Given the description of an element on the screen output the (x, y) to click on. 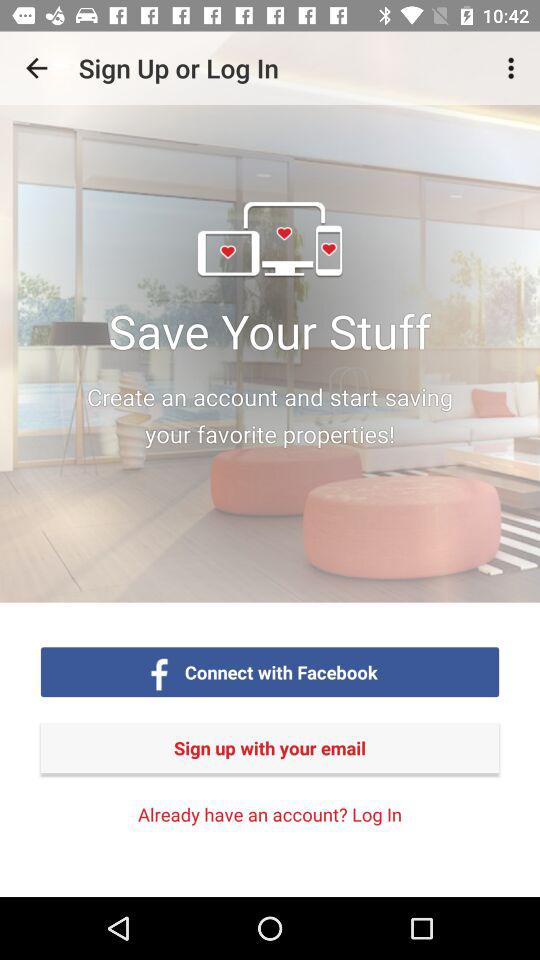
select already have an (269, 814)
